Given the description of an element on the screen output the (x, y) to click on. 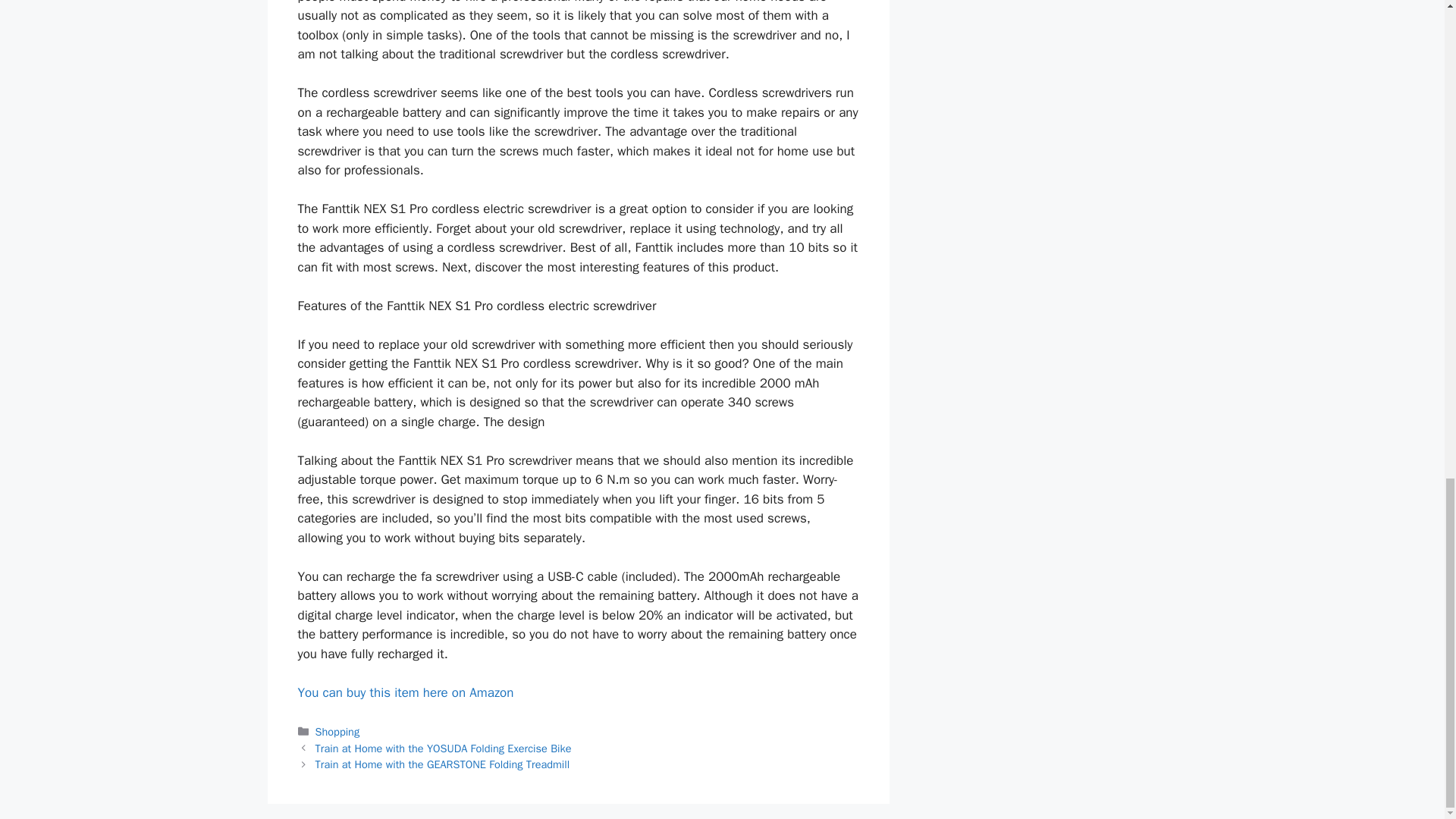
You can buy this item here on Amazon (405, 692)
Train at Home with the GEARSTONE Folding Treadmill (442, 764)
Shopping (337, 731)
Train at Home with the YOSUDA Folding Exercise Bike (443, 748)
